Given the description of an element on the screen output the (x, y) to click on. 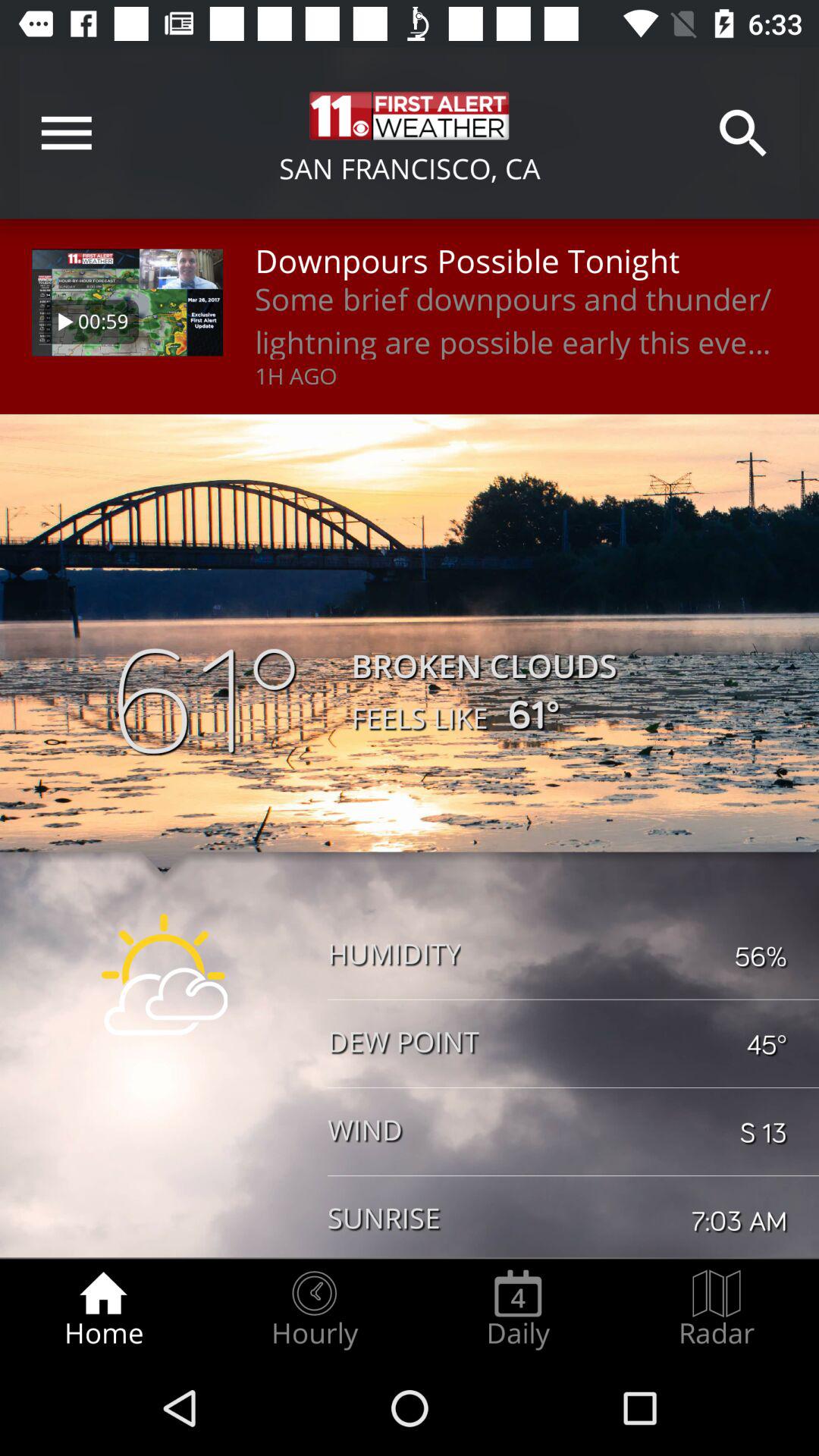
open the hourly item (314, 1309)
